Given the description of an element on the screen output the (x, y) to click on. 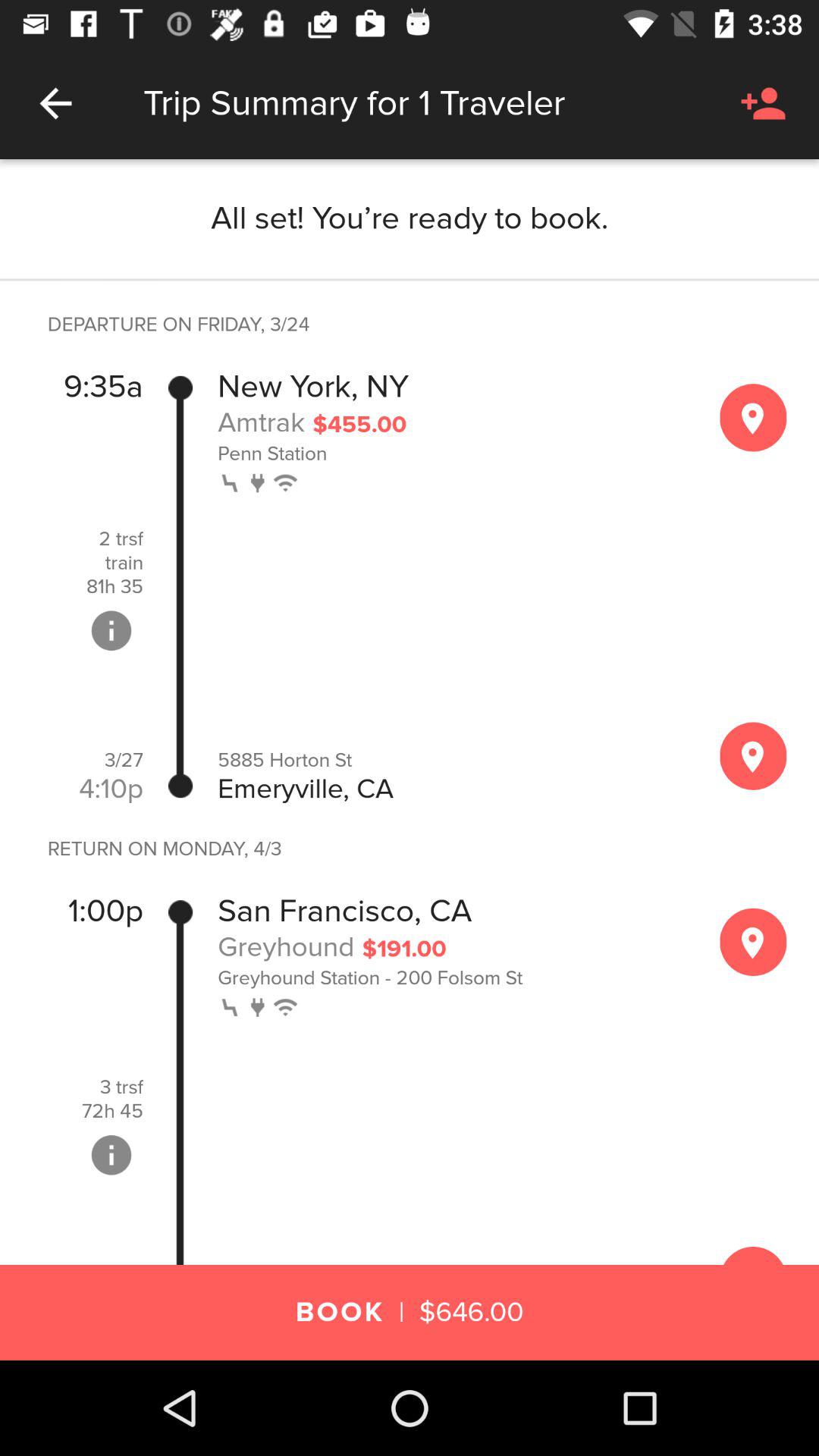
information (111, 630)
